Given the description of an element on the screen output the (x, y) to click on. 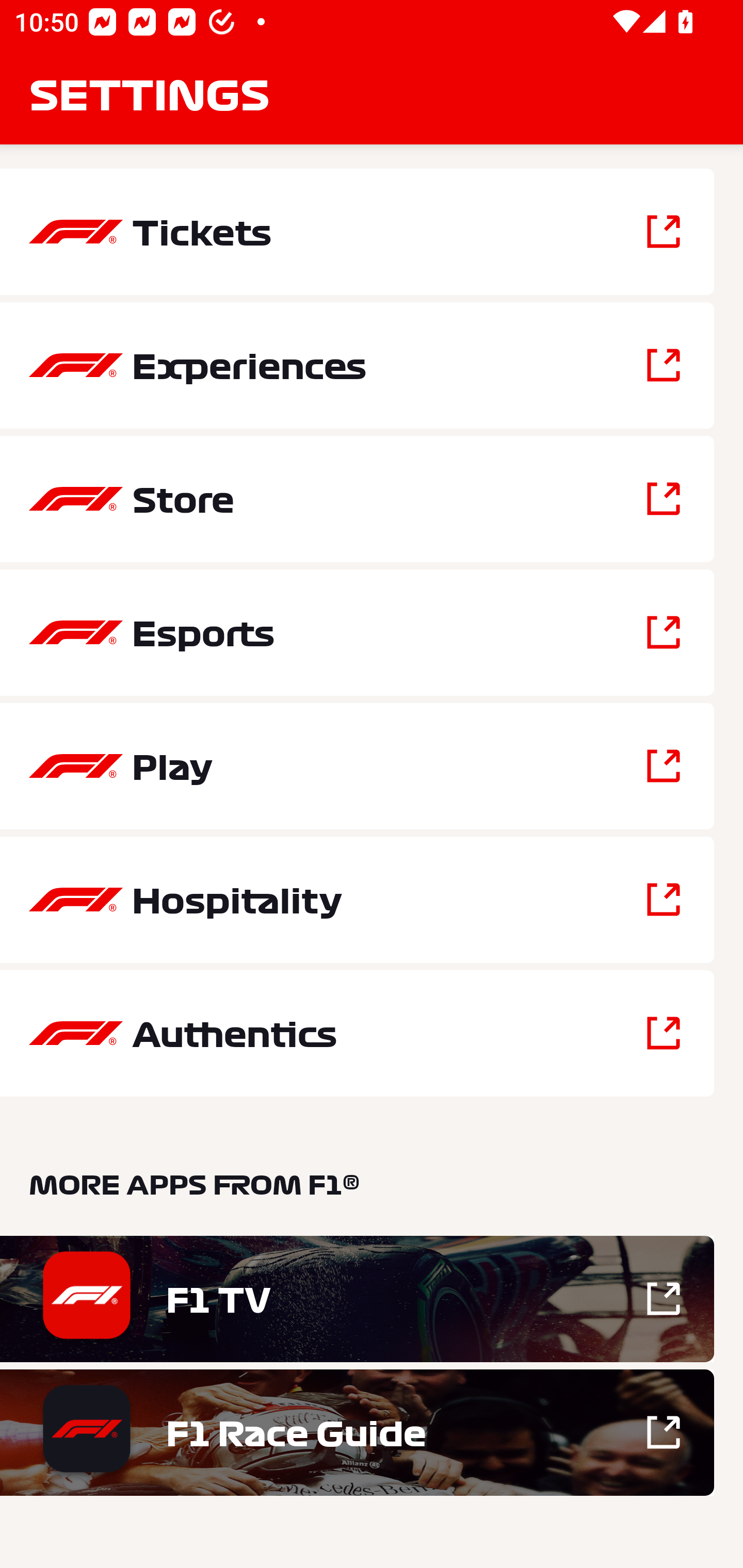
Tickets (357, 231)
Experiences (357, 365)
Store (357, 498)
Esports (357, 632)
Play (357, 765)
Hospitality (357, 899)
Authentics (357, 1033)
F1 TV (357, 1298)
F1 Race Guide (357, 1431)
